Given the description of an element on the screen output the (x, y) to click on. 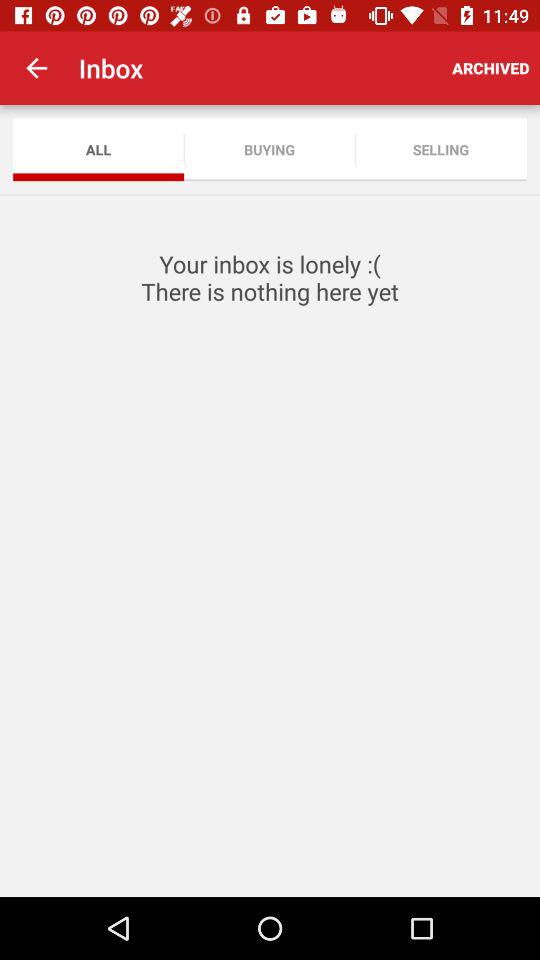
click item above selling icon (490, 67)
